Given the description of an element on the screen output the (x, y) to click on. 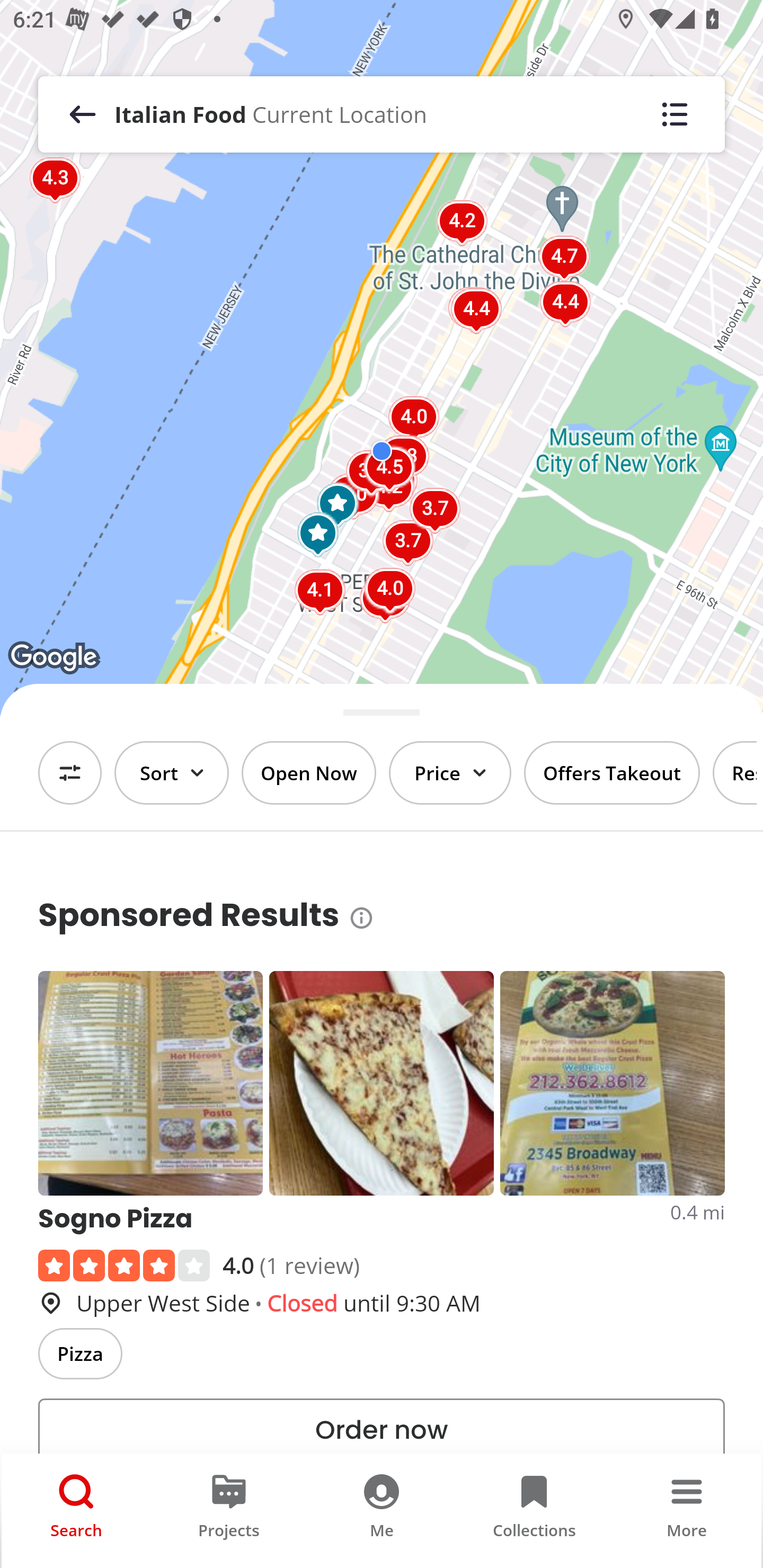
Sort (171, 772)
